Given the description of an element on the screen output the (x, y) to click on. 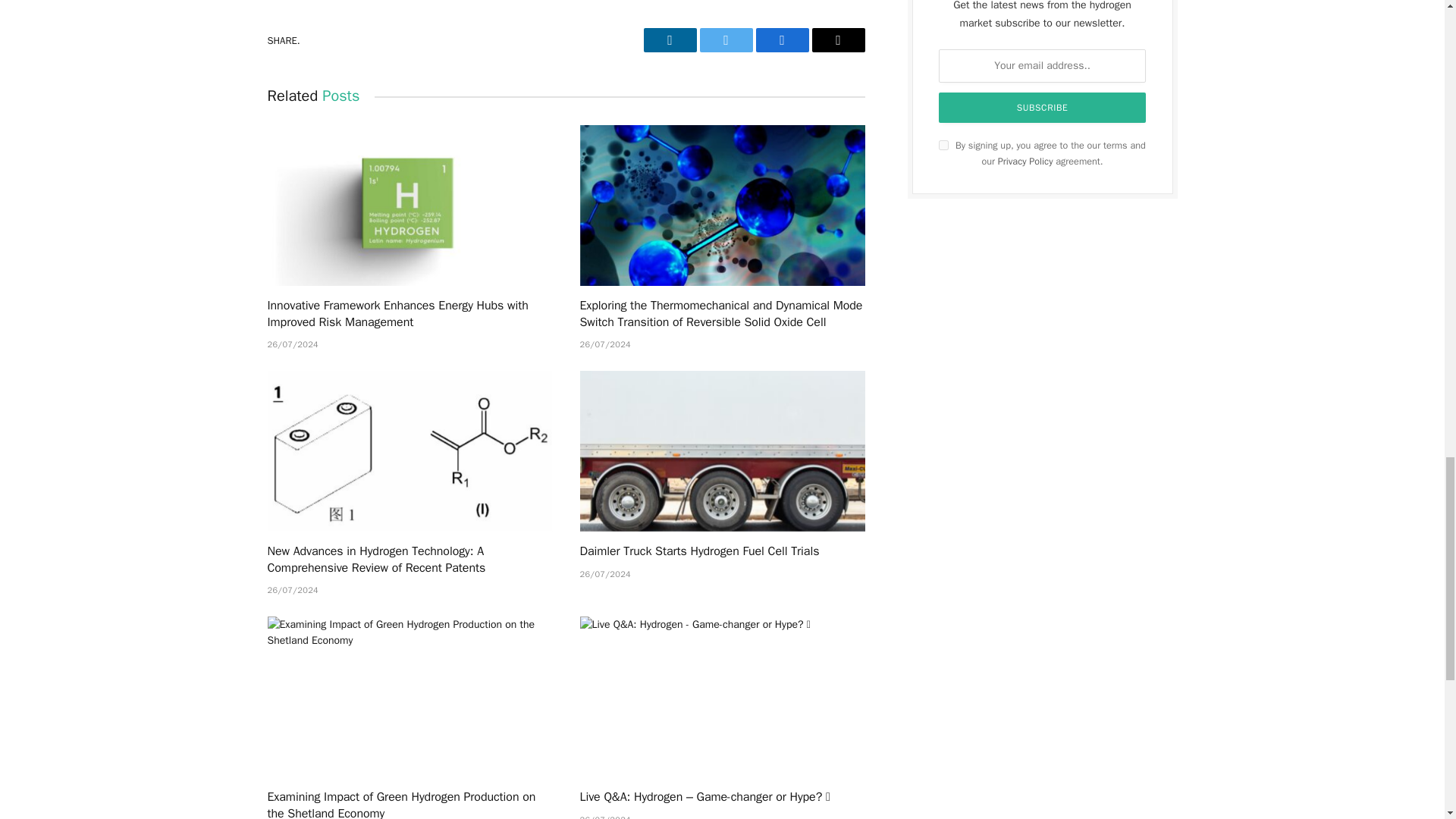
Subscribe (1043, 107)
on (944, 144)
